Given the description of an element on the screen output the (x, y) to click on. 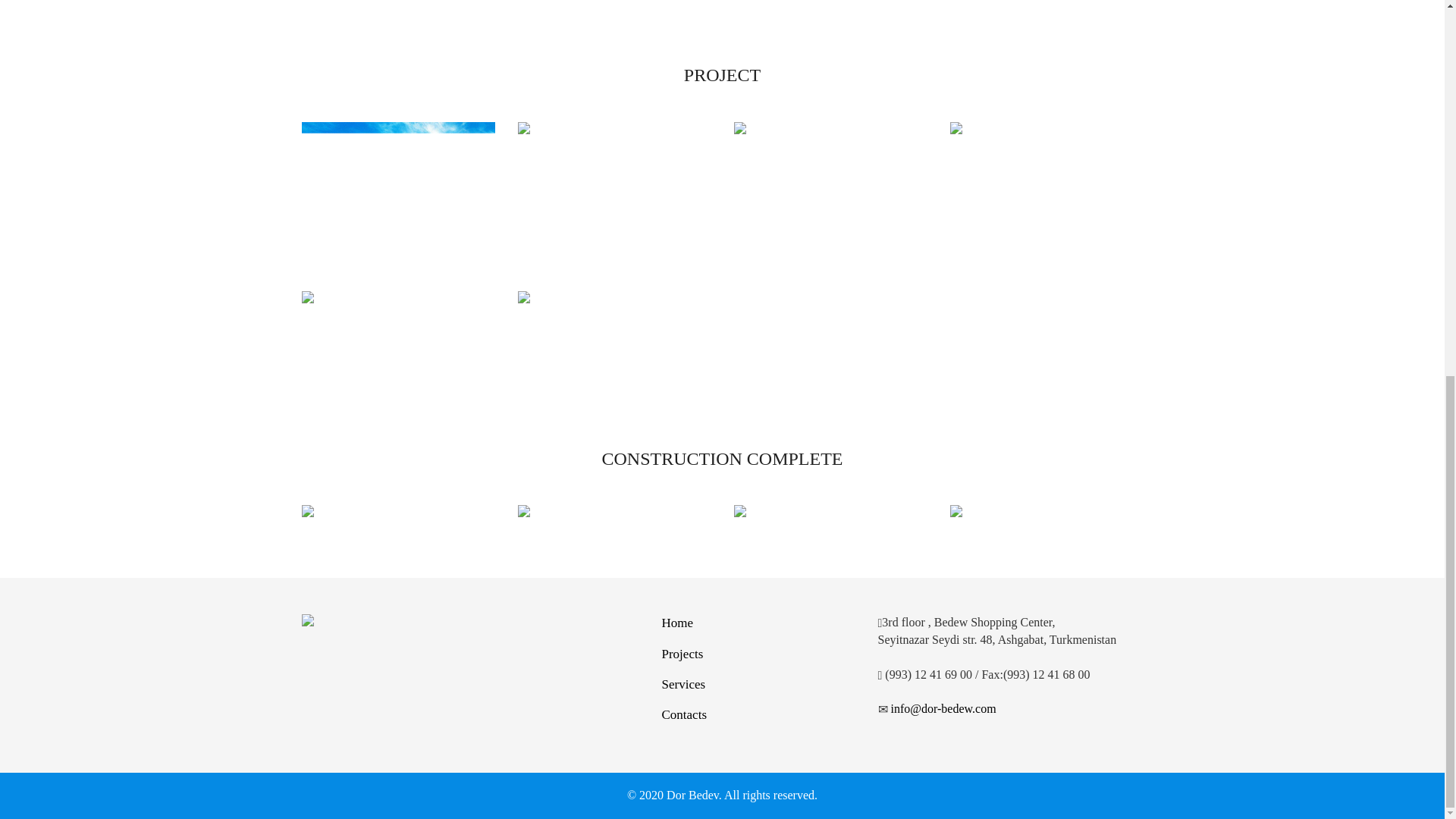
Home (677, 622)
Contacts (683, 714)
Services (682, 684)
Projects (682, 653)
